Given the description of an element on the screen output the (x, y) to click on. 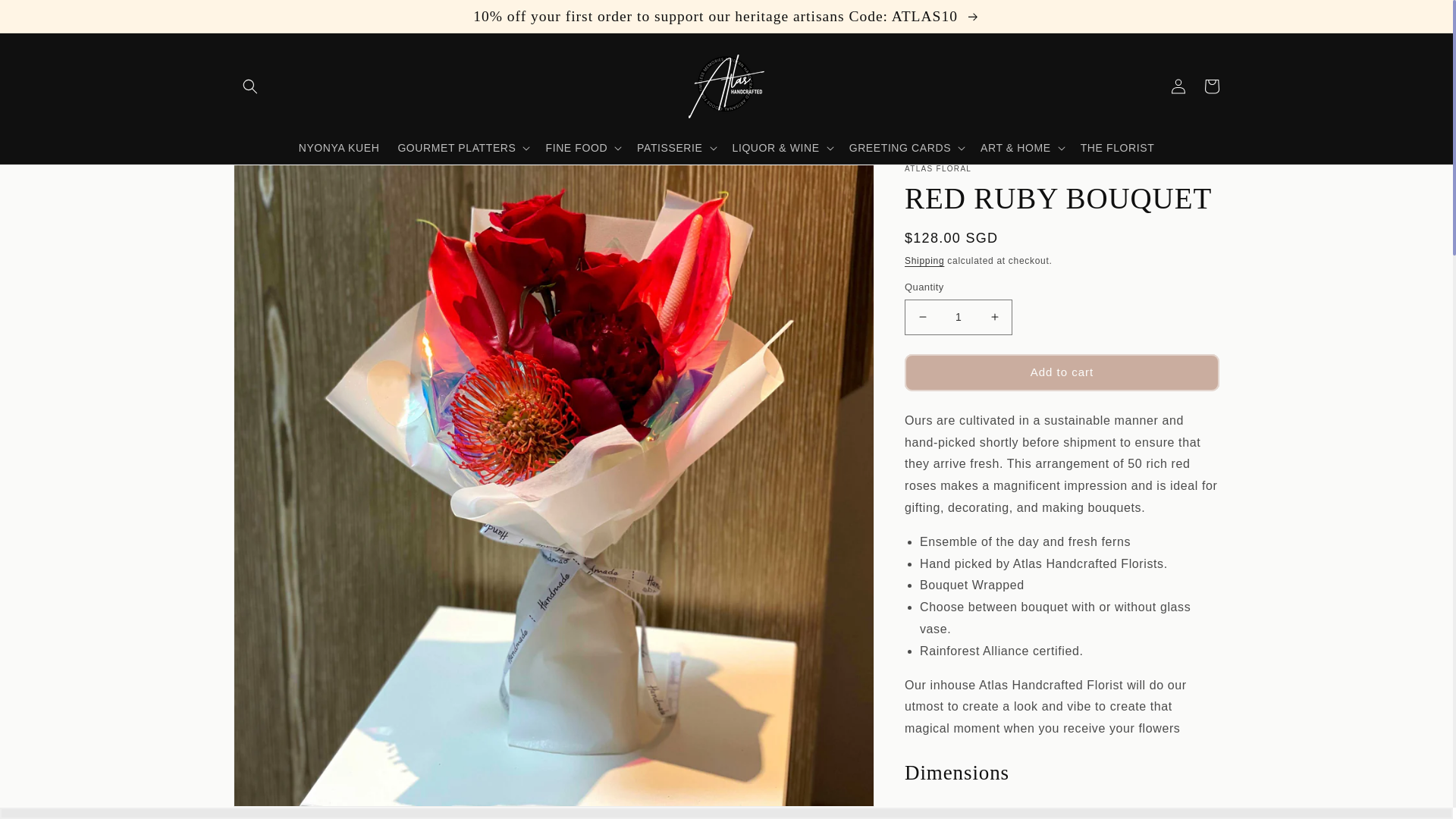
1 (957, 316)
Skip to content (46, 18)
